Given the description of an element on the screen output the (x, y) to click on. 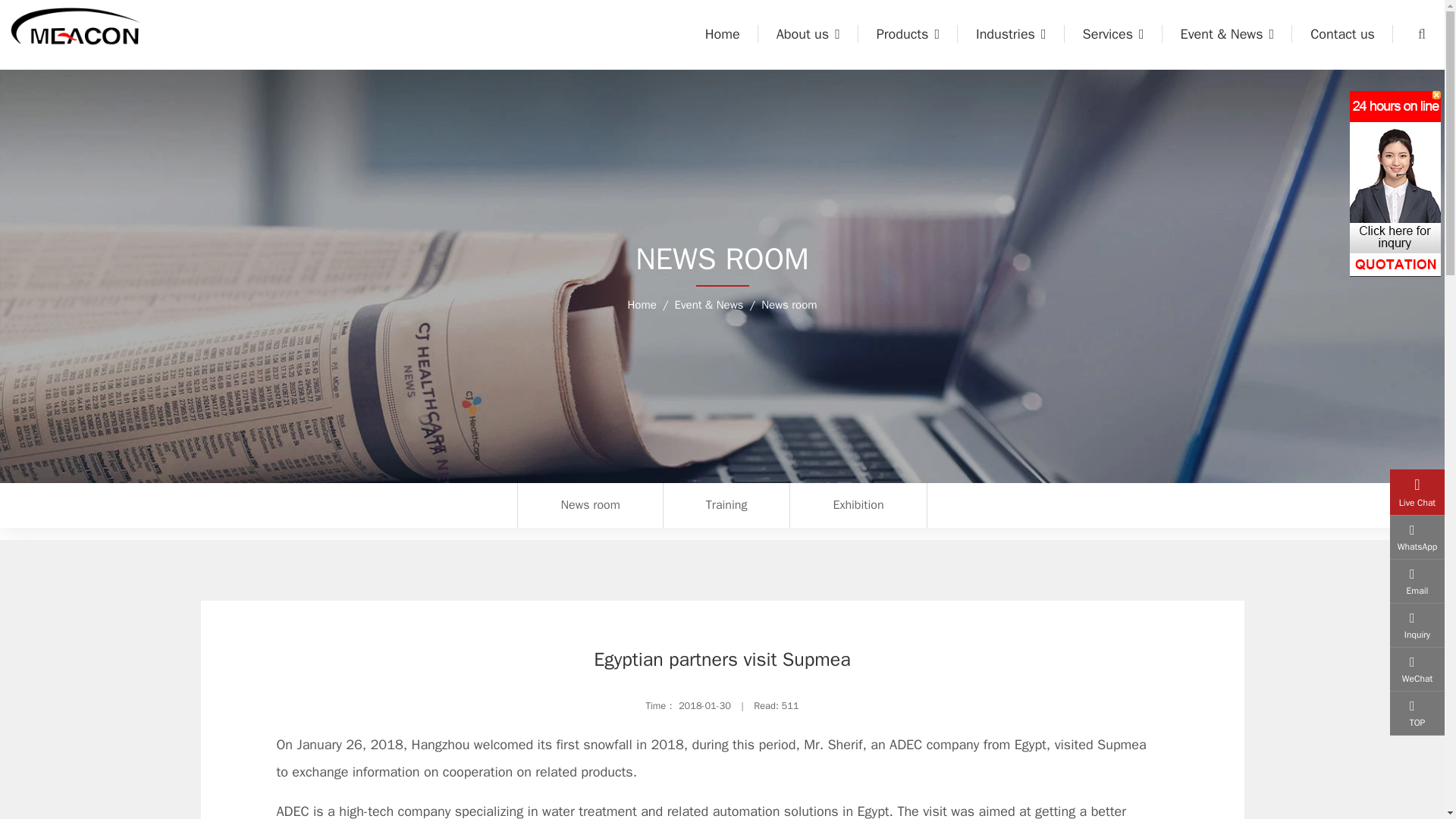
Products (908, 34)
Home (722, 34)
About us (808, 34)
